Given the description of an element on the screen output the (x, y) to click on. 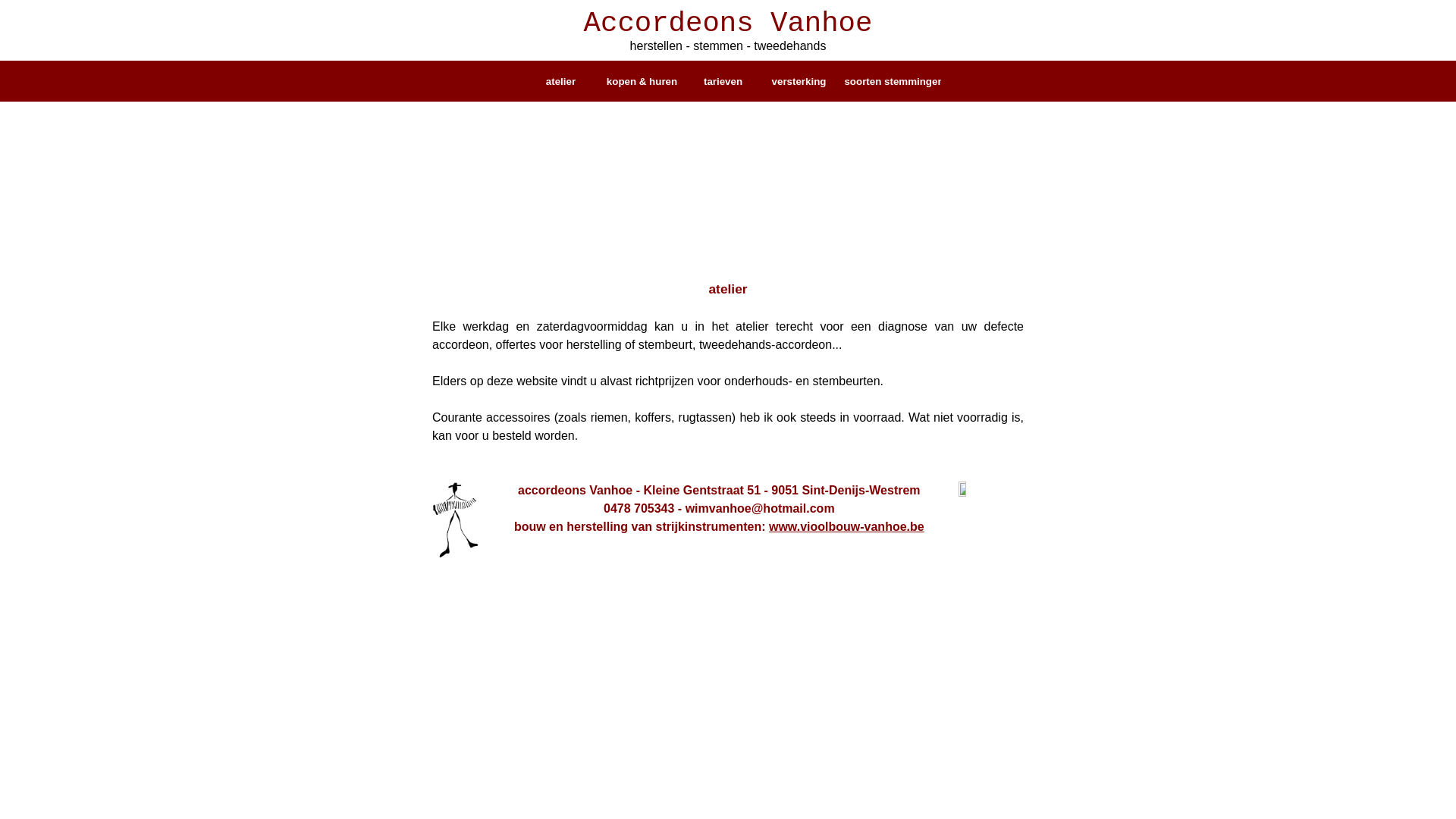
www.vioolbouw-vanhoe.be Element type: text (846, 526)
